Given the description of an element on the screen output the (x, y) to click on. 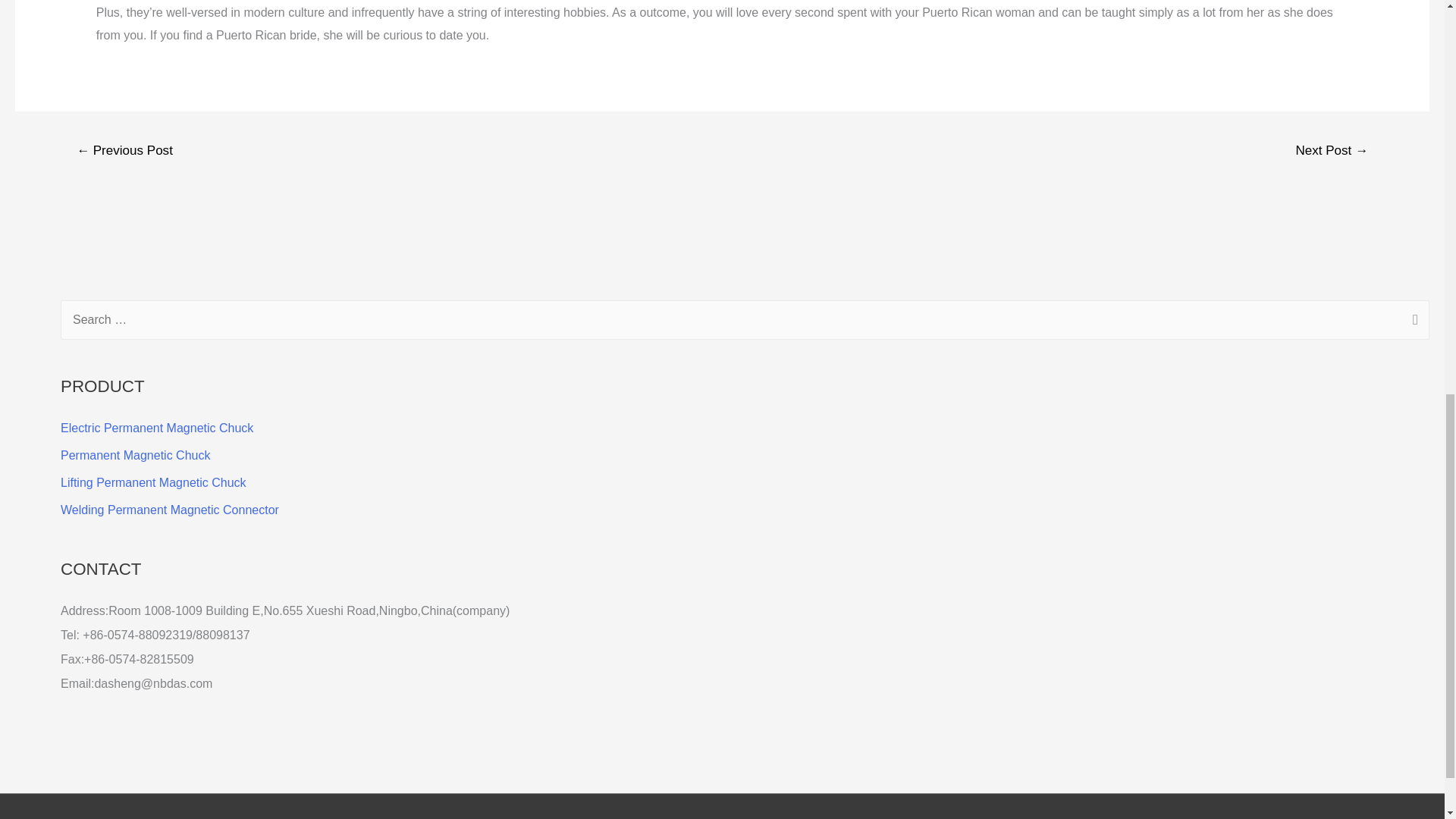
Lifting Permanent Magnetic Chuck (153, 481)
Permanent Magnetic Chuck (135, 454)
Welding Permanent Magnetic Connector (170, 509)
Electric Permanent Magnetic Chuck (157, 427)
